Given the description of an element on the screen output the (x, y) to click on. 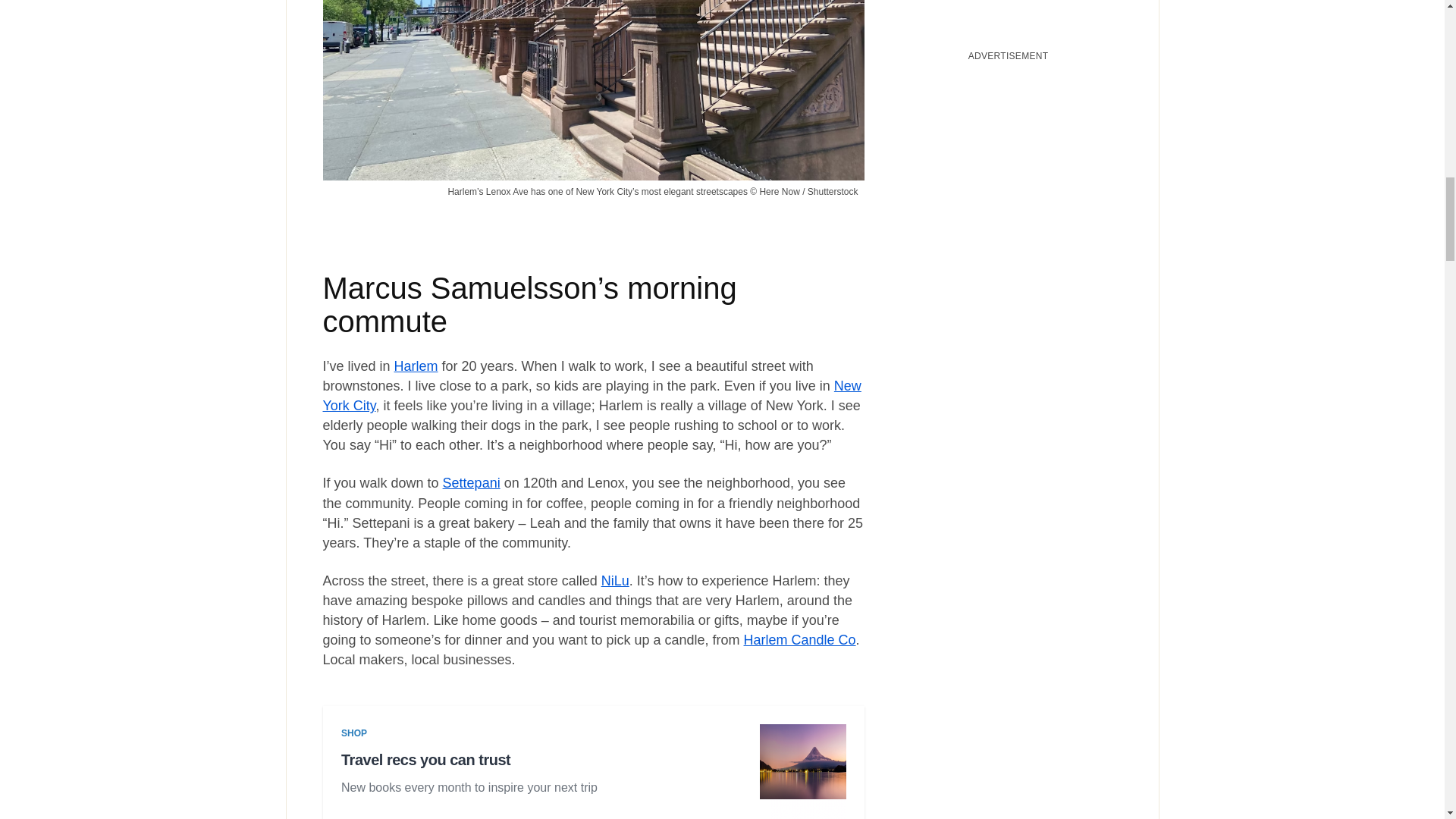
Settepani (471, 482)
3rd party ad content (592, 771)
New York City (592, 395)
Harlem Candle Co (800, 639)
Harlem (416, 365)
NiLu (614, 580)
